Given the description of an element on the screen output the (x, y) to click on. 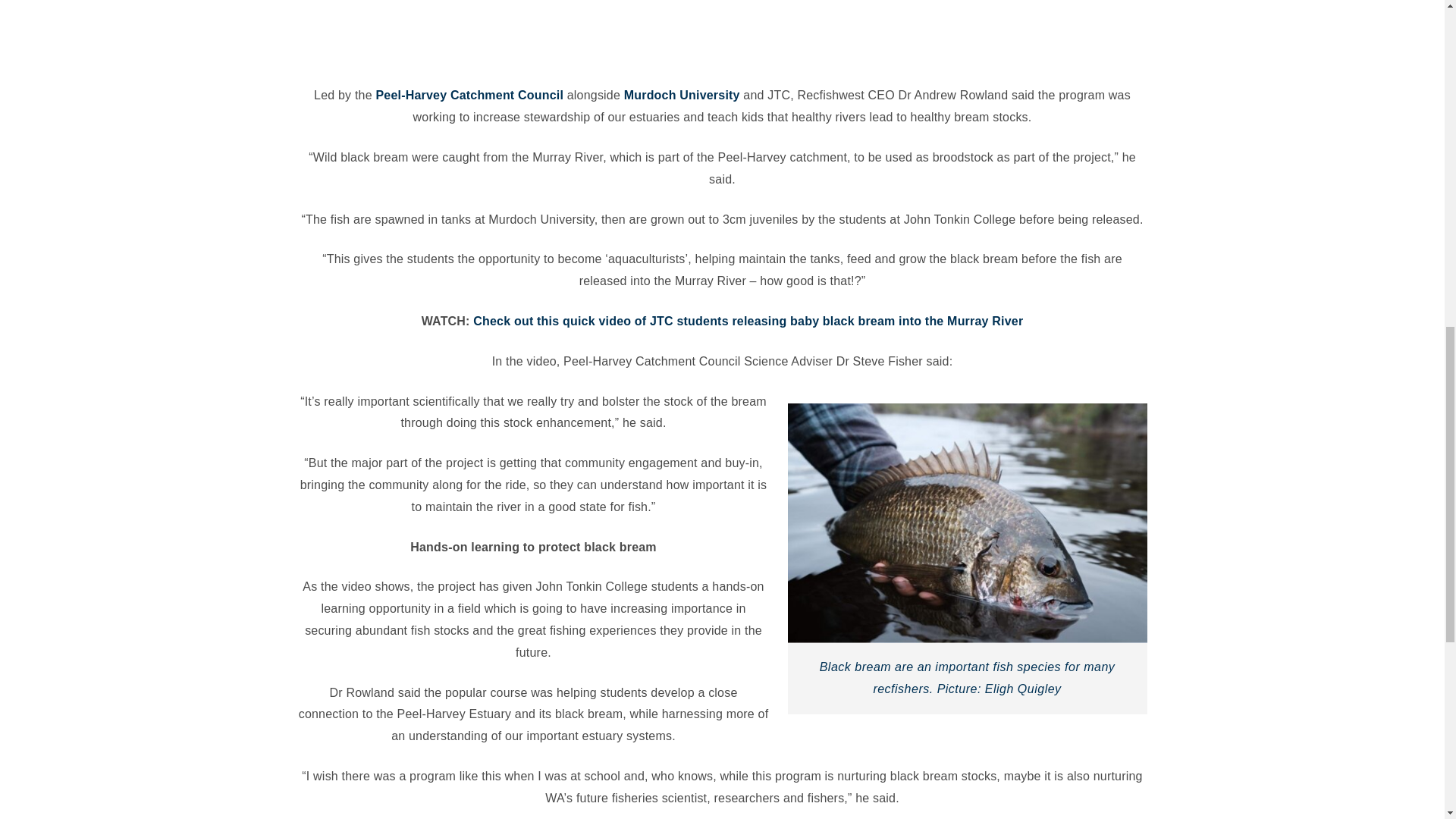
The Black Bream Project (721, 29)
